Given the description of an element on the screen output the (x, y) to click on. 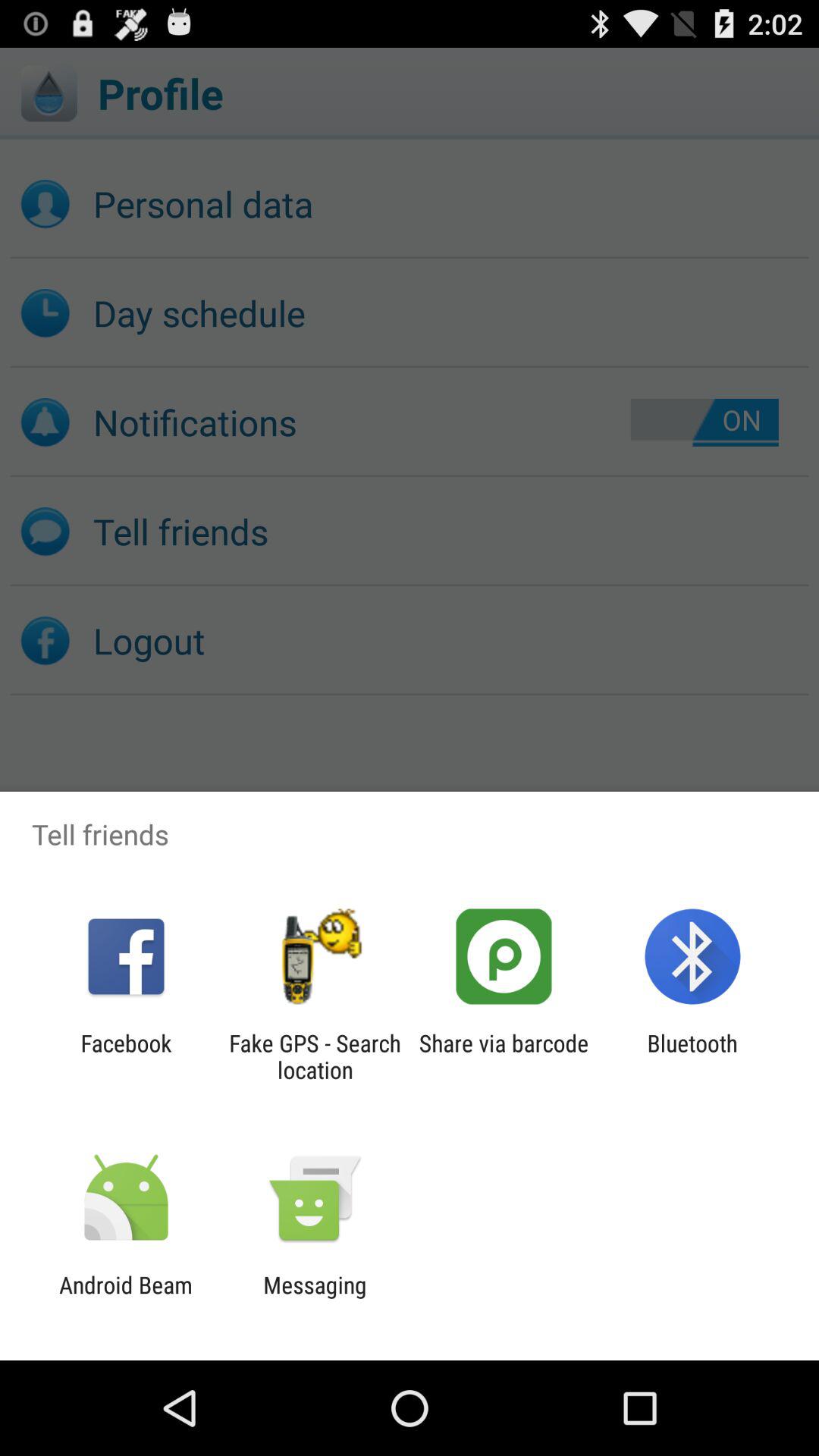
scroll until fake gps search (314, 1056)
